Given the description of an element on the screen output the (x, y) to click on. 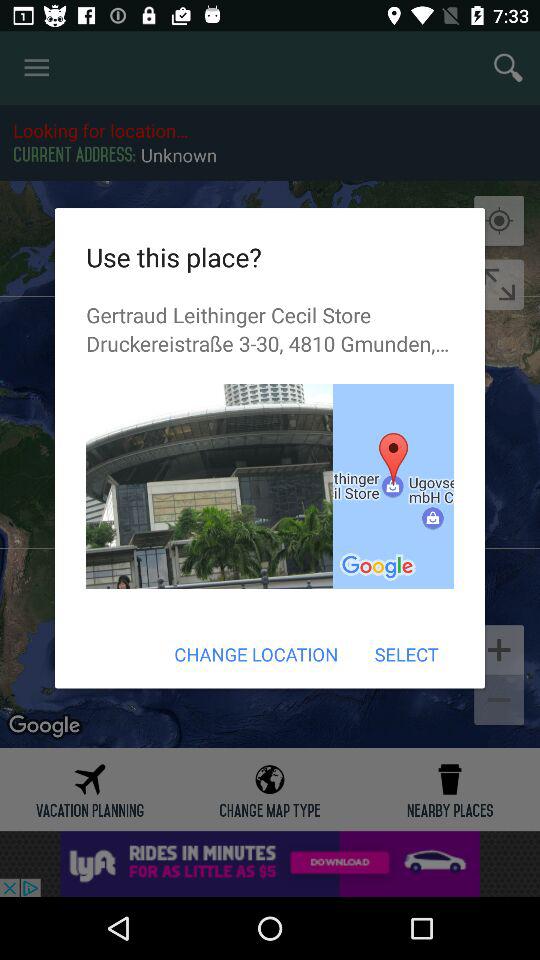
tap the icon to the left of select icon (256, 654)
